Given the description of an element on the screen output the (x, y) to click on. 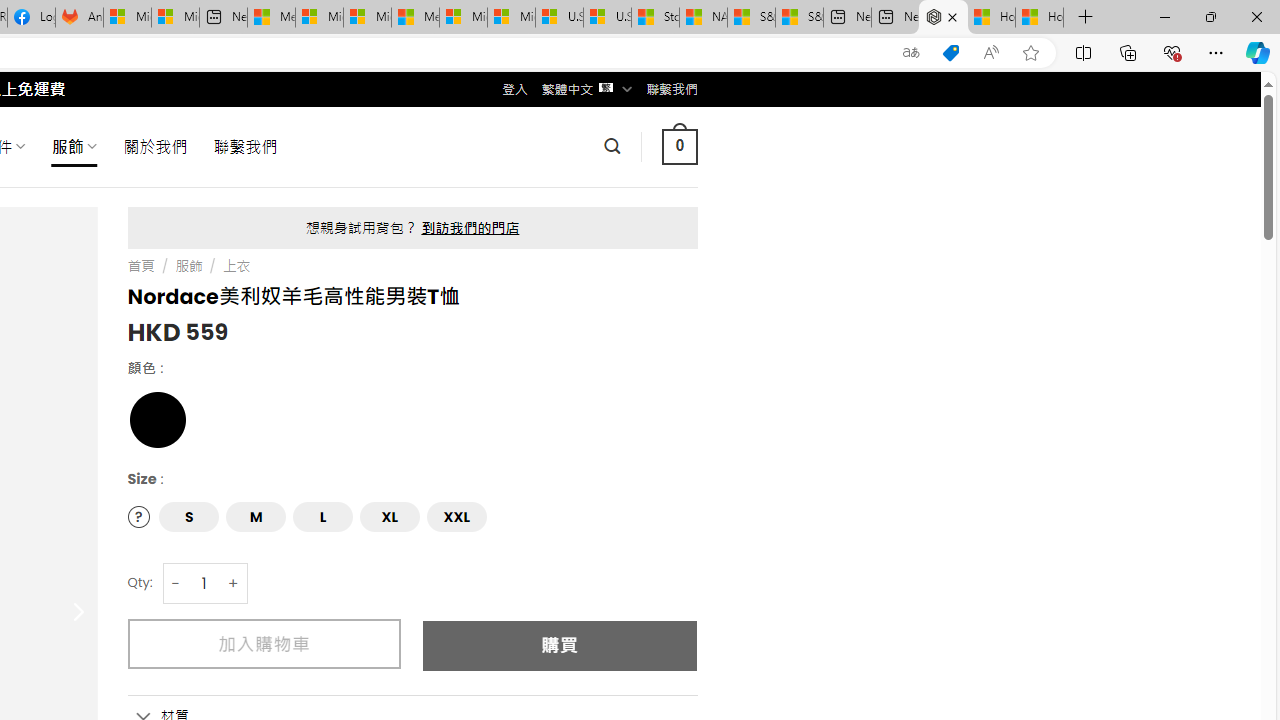
Microsoft account | Home (367, 17)
? (137, 515)
S&P 500, Nasdaq end lower, weighed by Nvidia dip | Watch (799, 17)
- (175, 583)
  0   (679, 146)
